Given the description of an element on the screen output the (x, y) to click on. 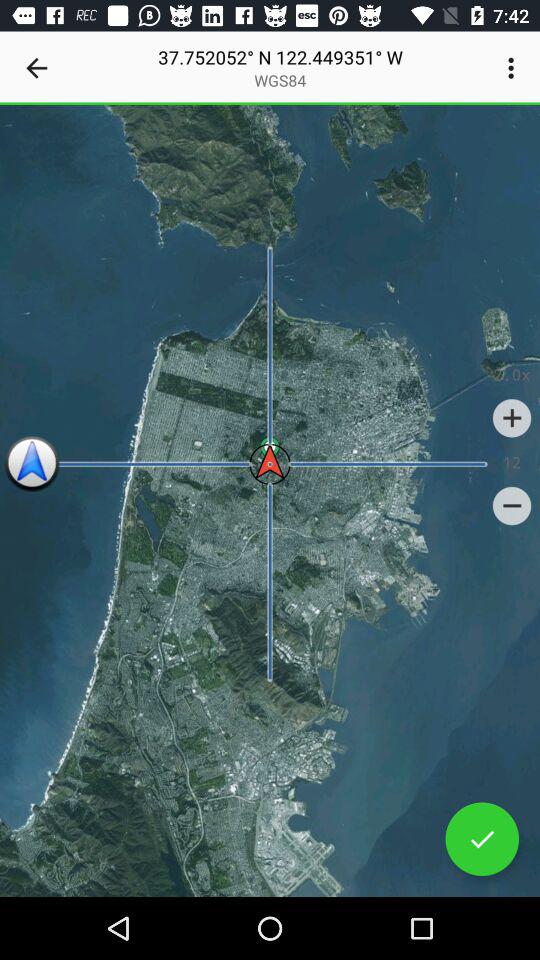
set correct location (482, 839)
